Given the description of an element on the screen output the (x, y) to click on. 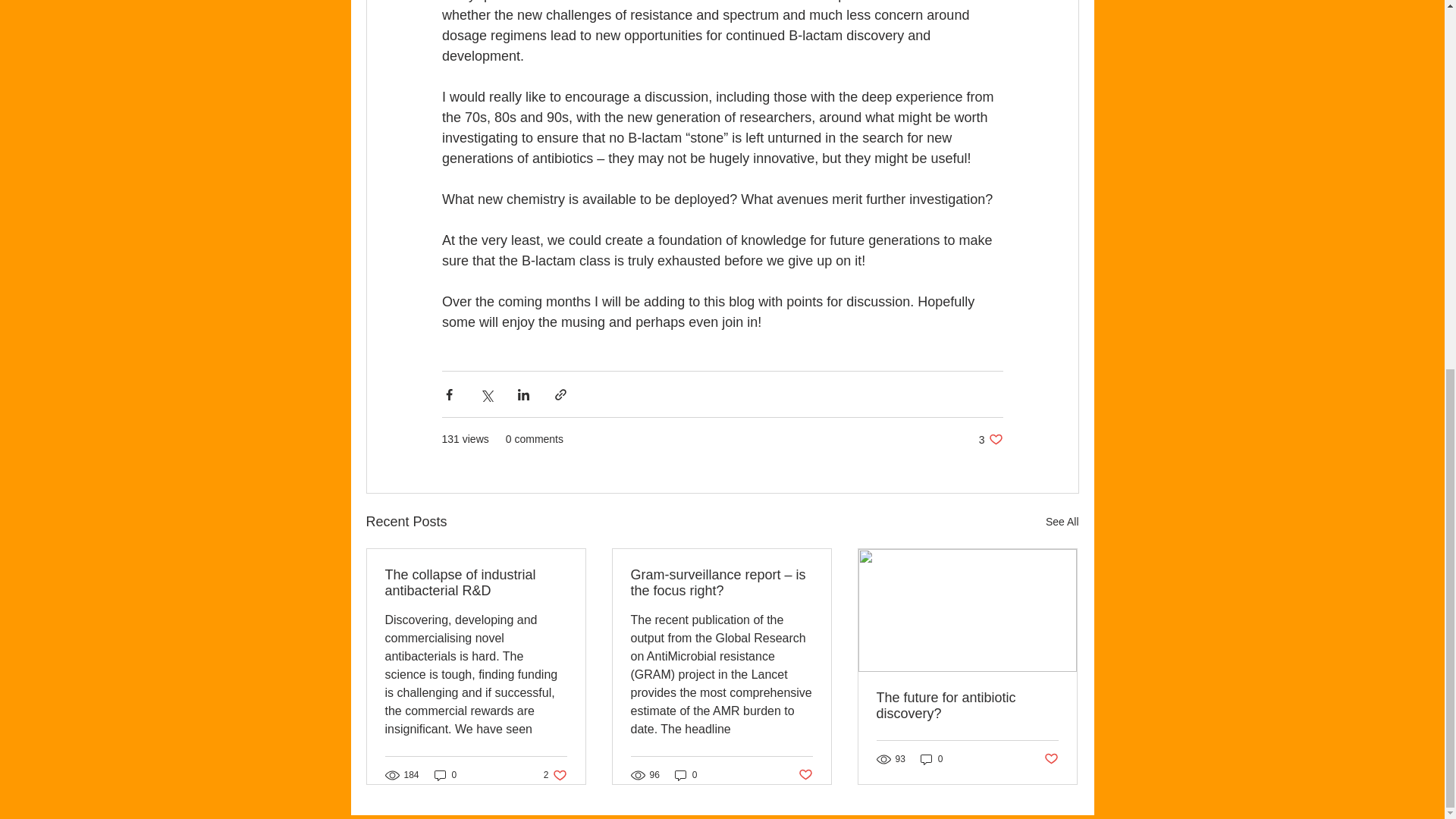
0 (555, 774)
Post not marked as liked (685, 774)
The future for antibiotic discovery? (804, 774)
0 (967, 705)
Post not marked as liked (445, 774)
0 (1050, 758)
See All (990, 439)
